Given the description of an element on the screen output the (x, y) to click on. 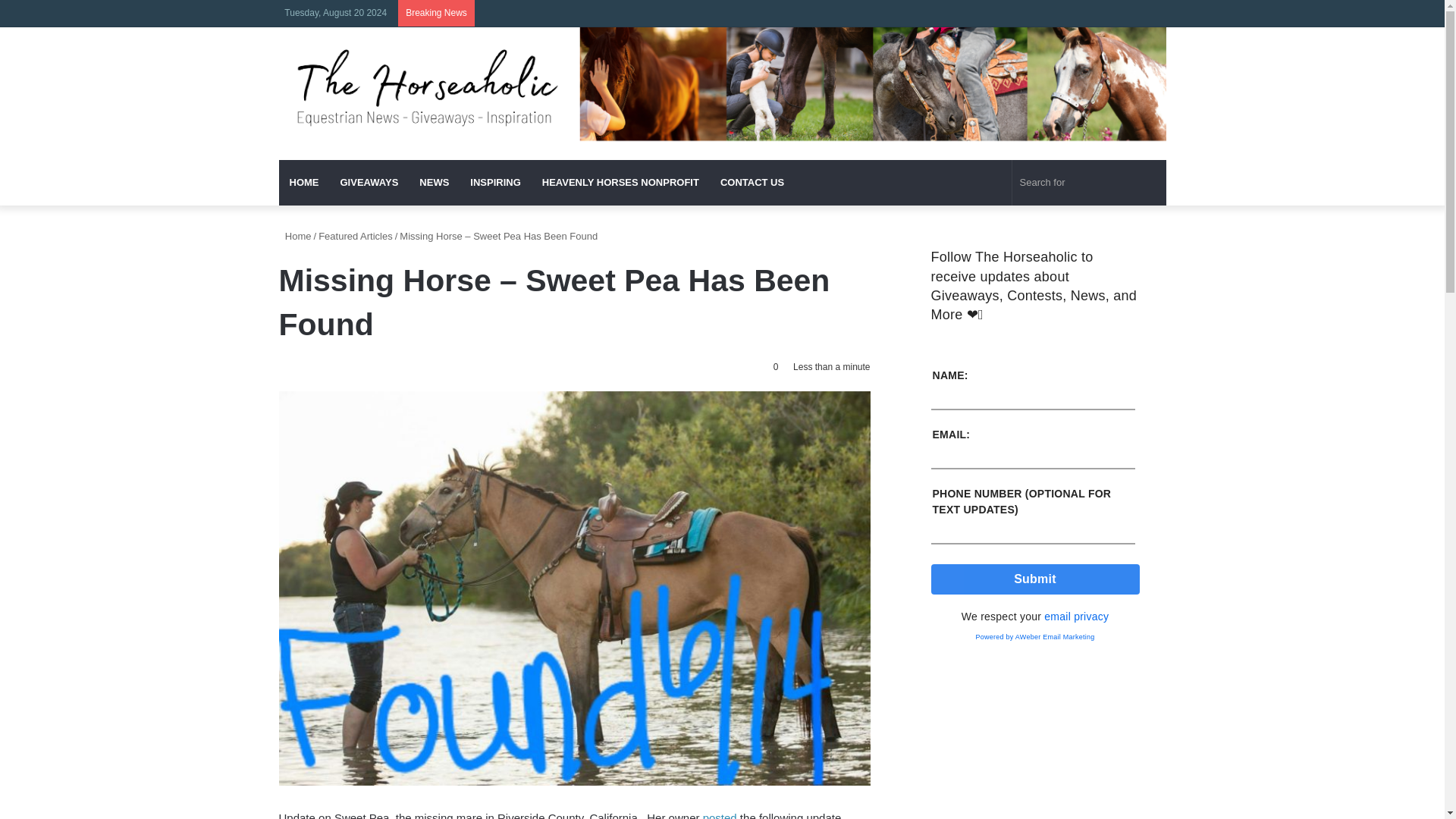
HEAVENLY HORSES NONPROFIT (620, 182)
posted (719, 815)
The Horseaholic (722, 93)
CONTACT US (752, 182)
AWeber Email Marketing (1034, 636)
Submit (1035, 579)
NEWS (434, 182)
Featured Articles (355, 235)
Privacy Policy (1075, 616)
Home (295, 235)
